Given the description of an element on the screen output the (x, y) to click on. 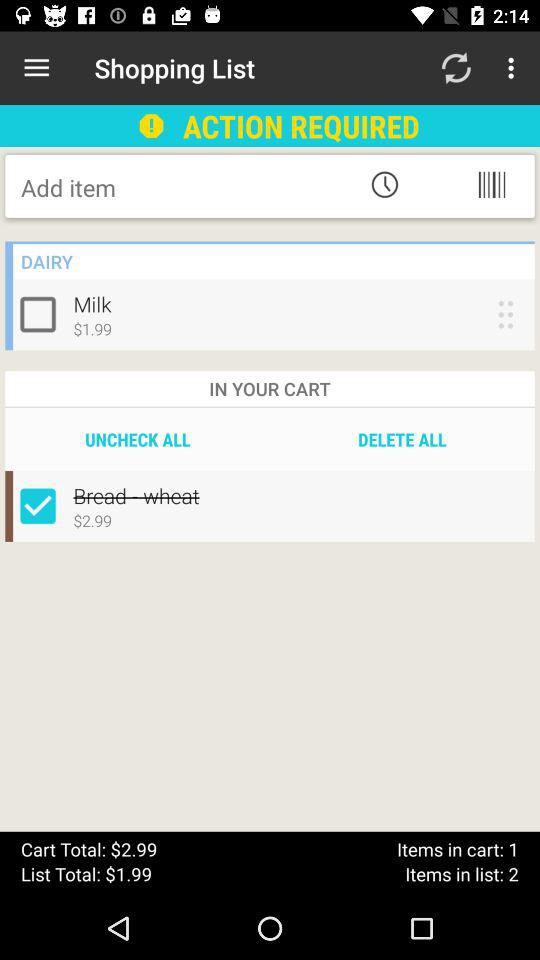
choose item below action required item (384, 184)
